Given the description of an element on the screen output the (x, y) to click on. 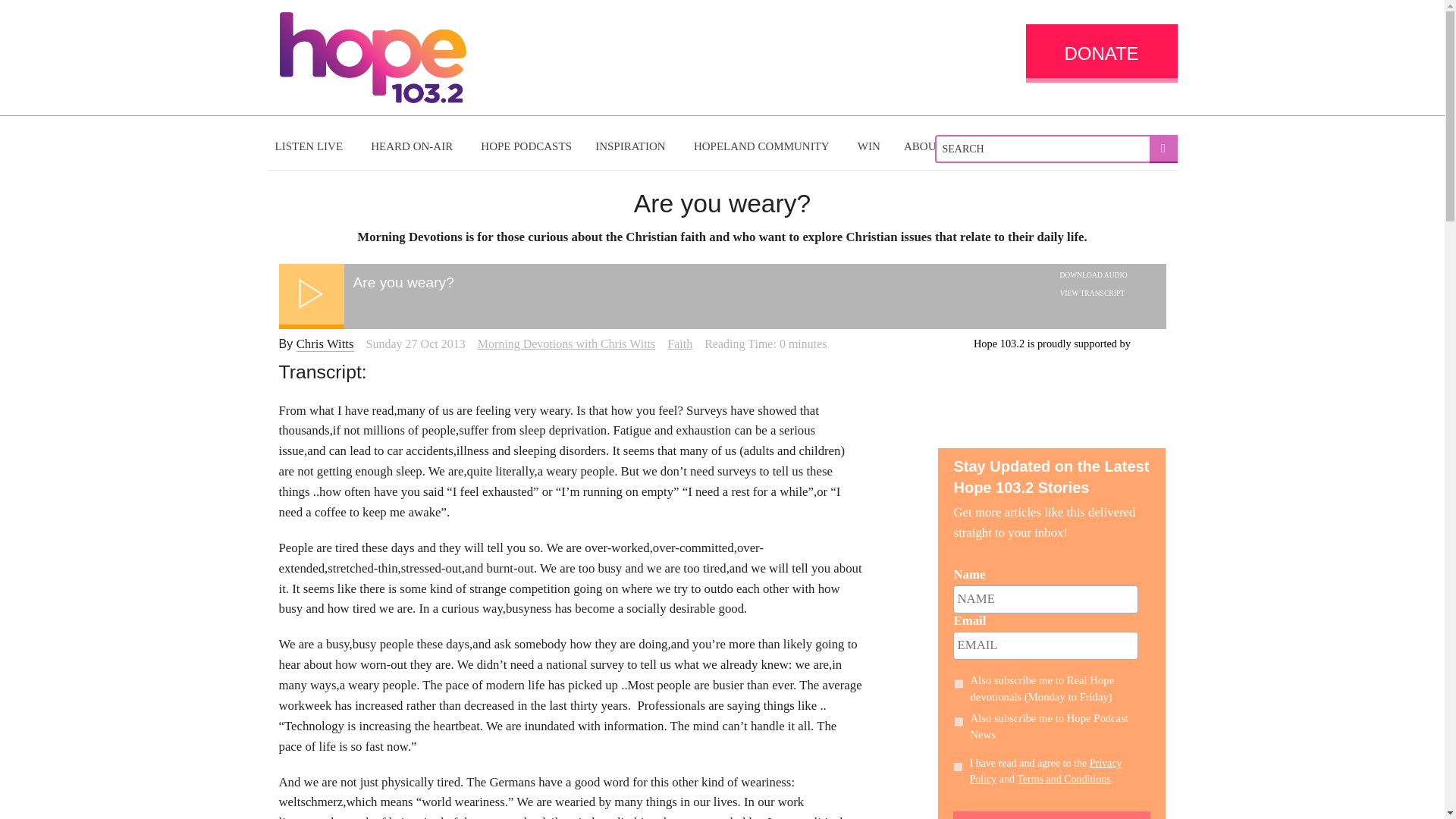
HOPELAND COMMUNITY (763, 146)
DONATE (1100, 53)
HEARD ON-AIR (413, 146)
HOPE PODCASTS (526, 146)
INSPIRATION (633, 146)
LISTEN LIVE (310, 146)
